Given the description of an element on the screen output the (x, y) to click on. 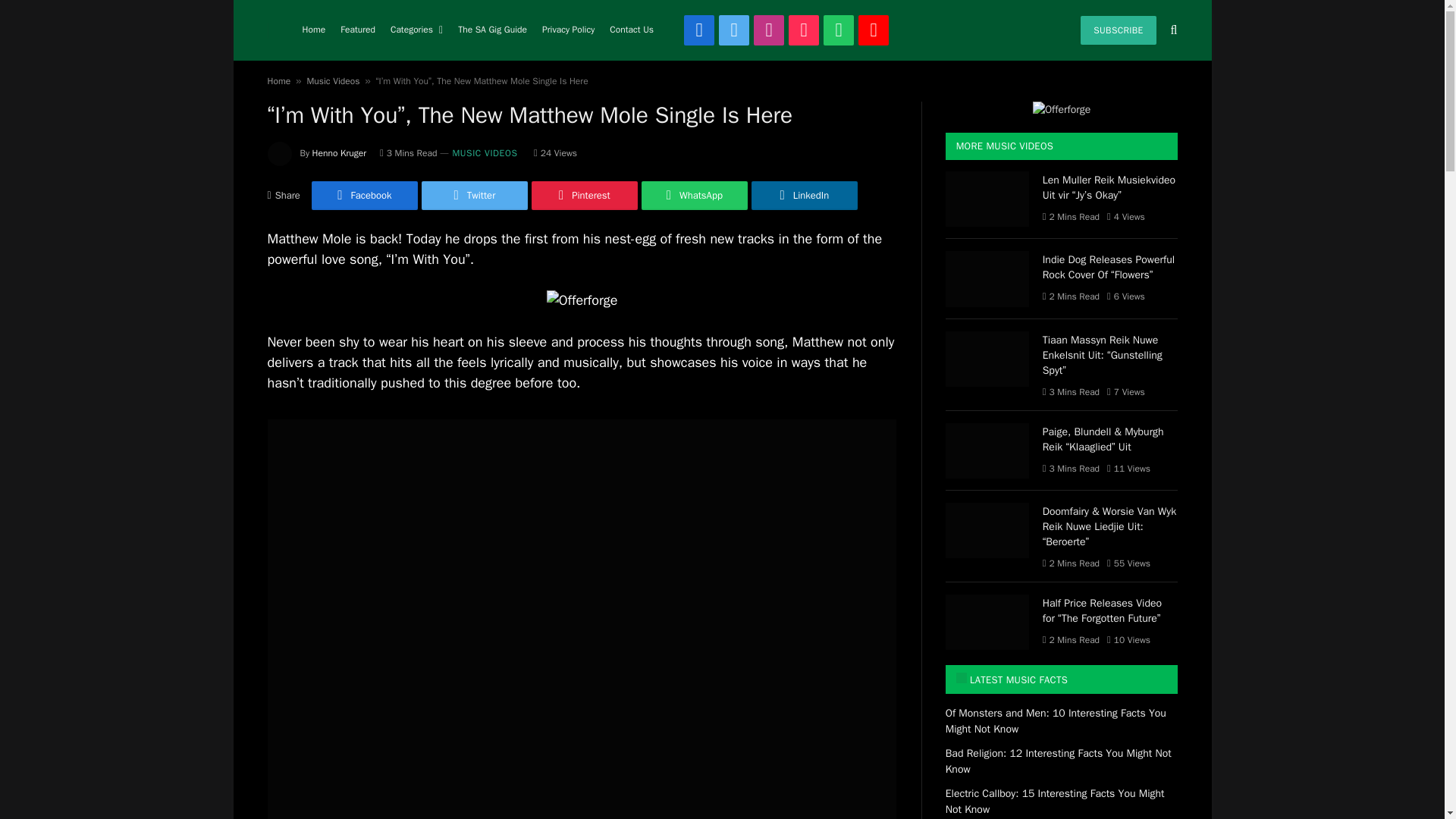
Share on Pinterest (584, 194)
MUSIC VIDEOS (483, 153)
Henno Kruger (339, 152)
Facebook (364, 194)
Instagram (769, 30)
Contact Us (631, 30)
WhatsApp (838, 30)
Privacy Policy (568, 30)
Share on LinkedIn (804, 194)
Categories (415, 30)
